Given the description of an element on the screen output the (x, y) to click on. 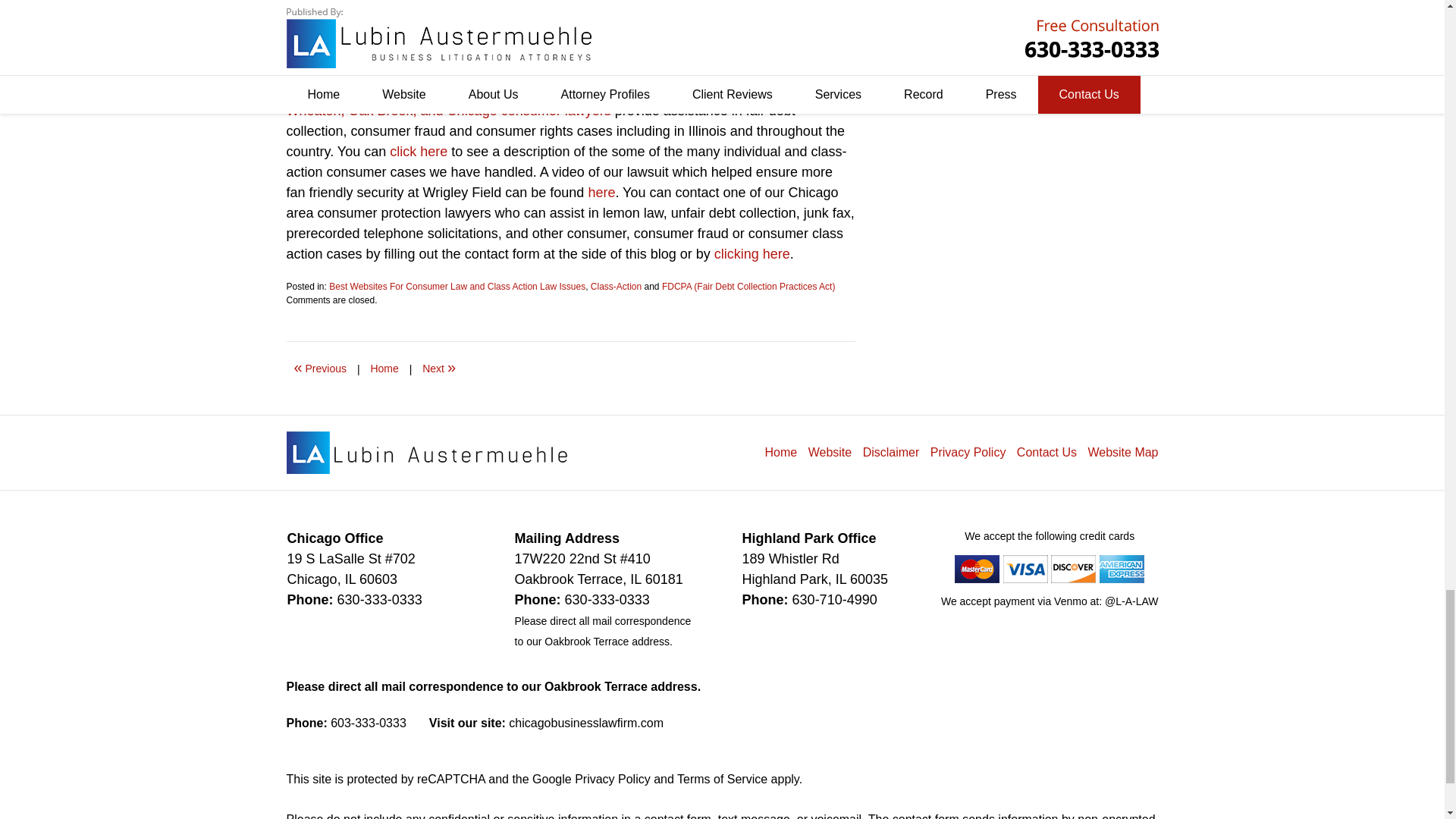
click here (418, 151)
Best Websites For Consumer Law and Class Action Law Issues (457, 286)
View all posts in Class-Action (616, 286)
clicking here (752, 253)
here (601, 192)
